Given the description of an element on the screen output the (x, y) to click on. 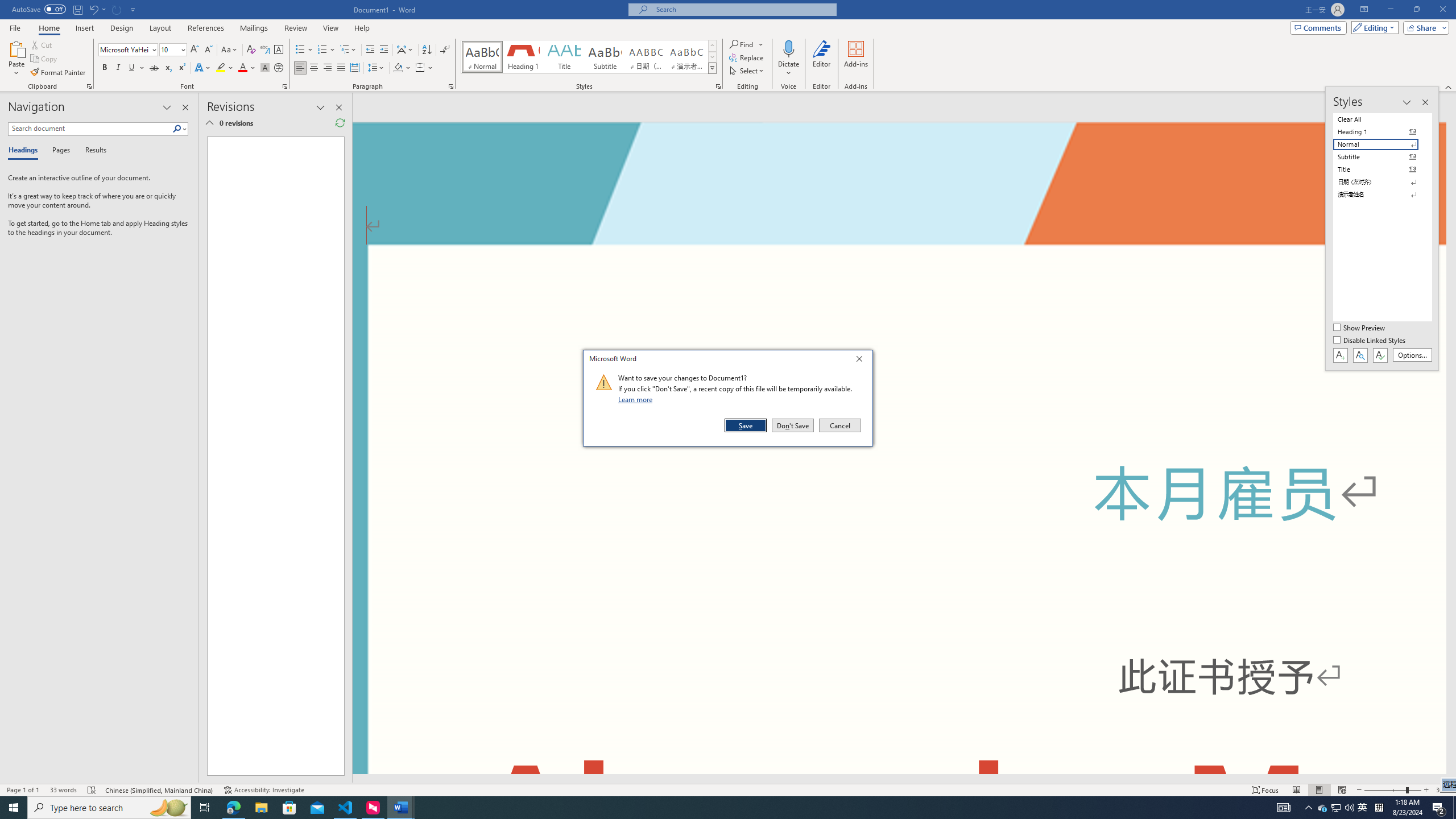
Results (91, 150)
Share (1362, 807)
Focus  (1423, 27)
Quick Access Toolbar (1265, 790)
Paste (74, 9)
Comments (16, 58)
Row up (1318, 27)
Don't Save (711, 45)
Close (792, 425)
Open (862, 360)
Disable Linked Styles (182, 49)
Dictate (1370, 340)
Bullets (788, 58)
